Given the description of an element on the screen output the (x, y) to click on. 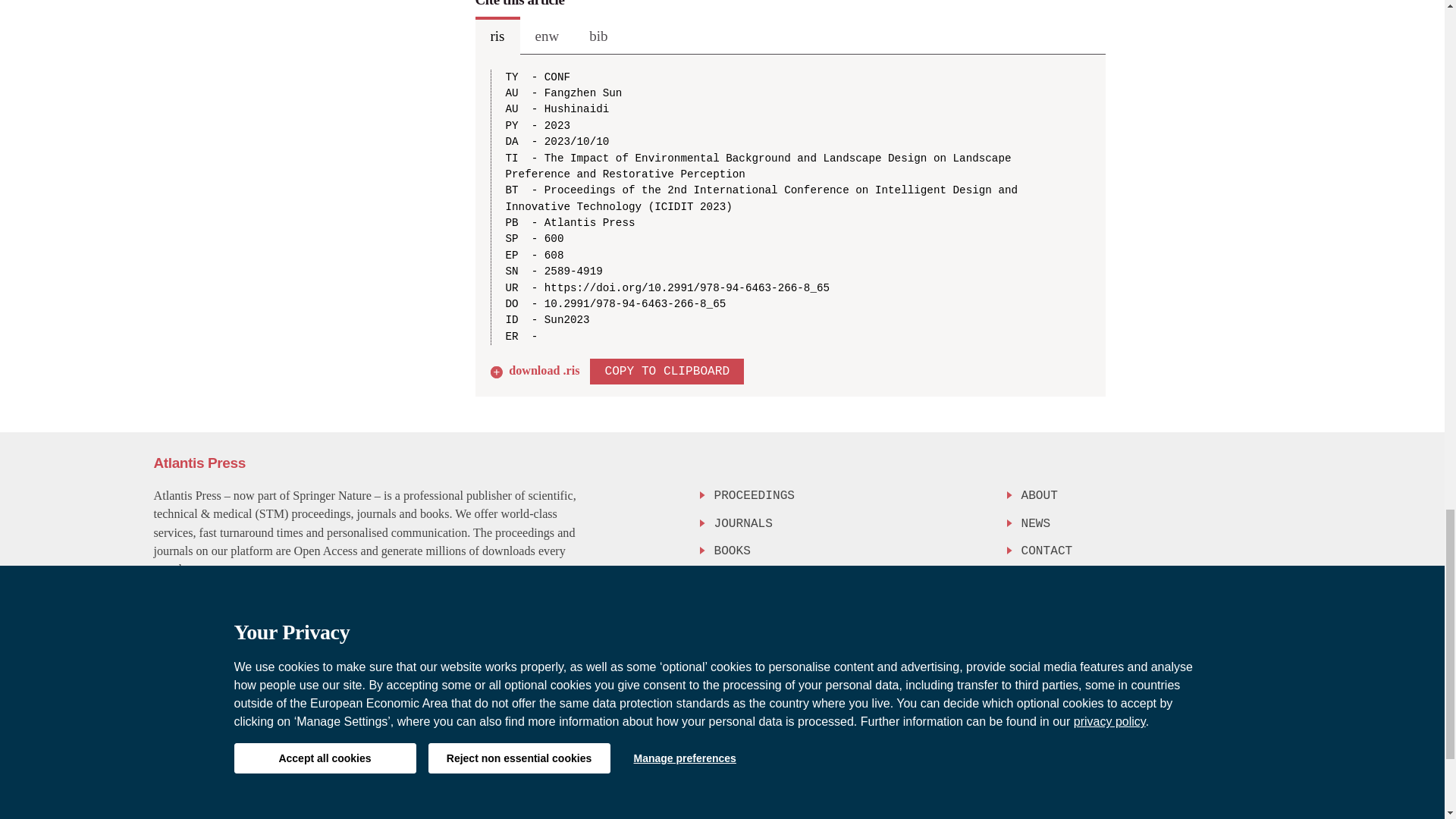
LinkedIn (1275, 673)
Facebook (1215, 673)
Twitter (1243, 673)
